Given the description of an element on the screen output the (x, y) to click on. 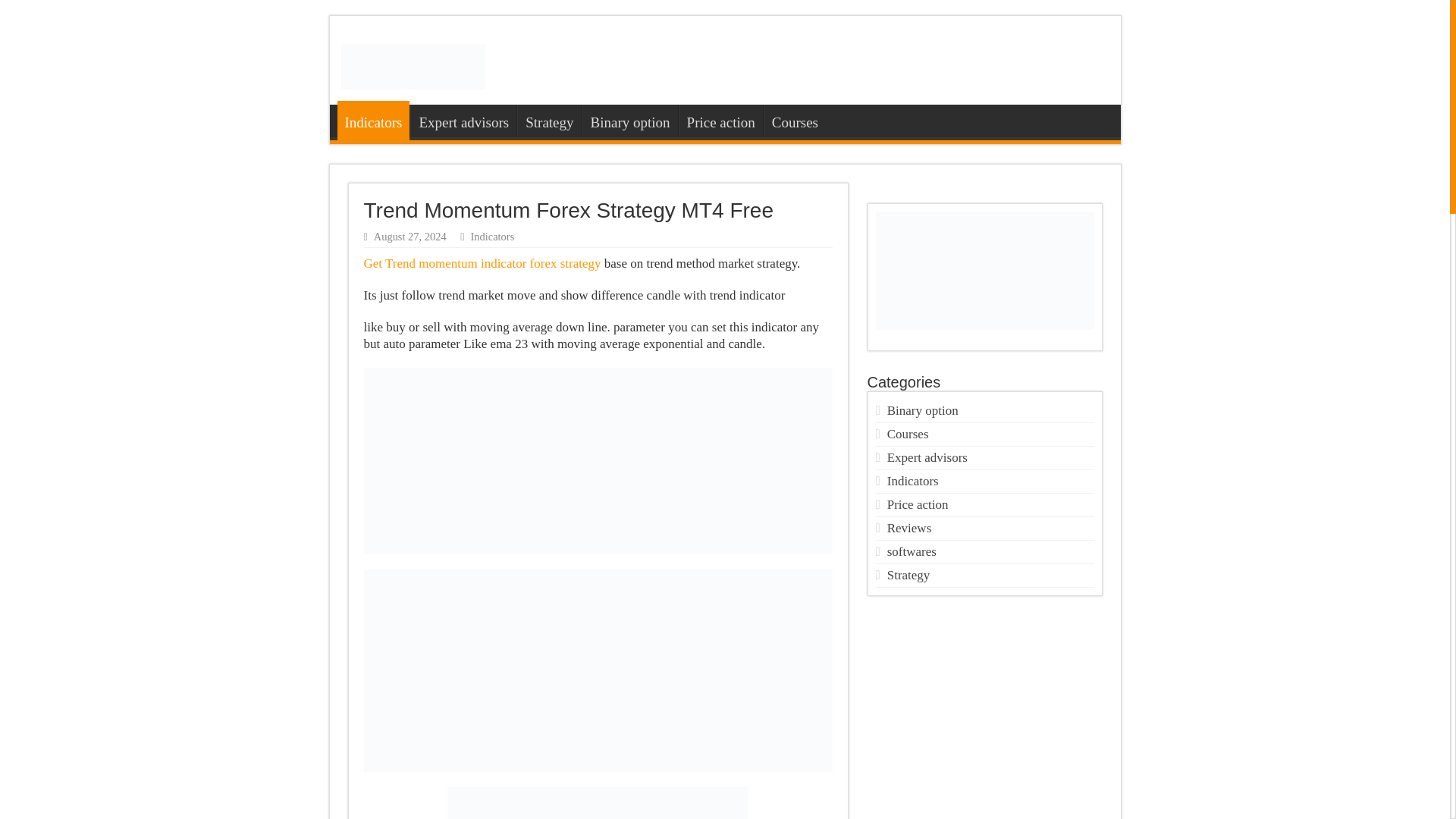
Strategy (548, 120)
Price action (720, 120)
Indicators (492, 236)
Binary option (630, 120)
Courses (793, 120)
Indicators (372, 120)
Expert advisors (463, 120)
